Given the description of an element on the screen output the (x, y) to click on. 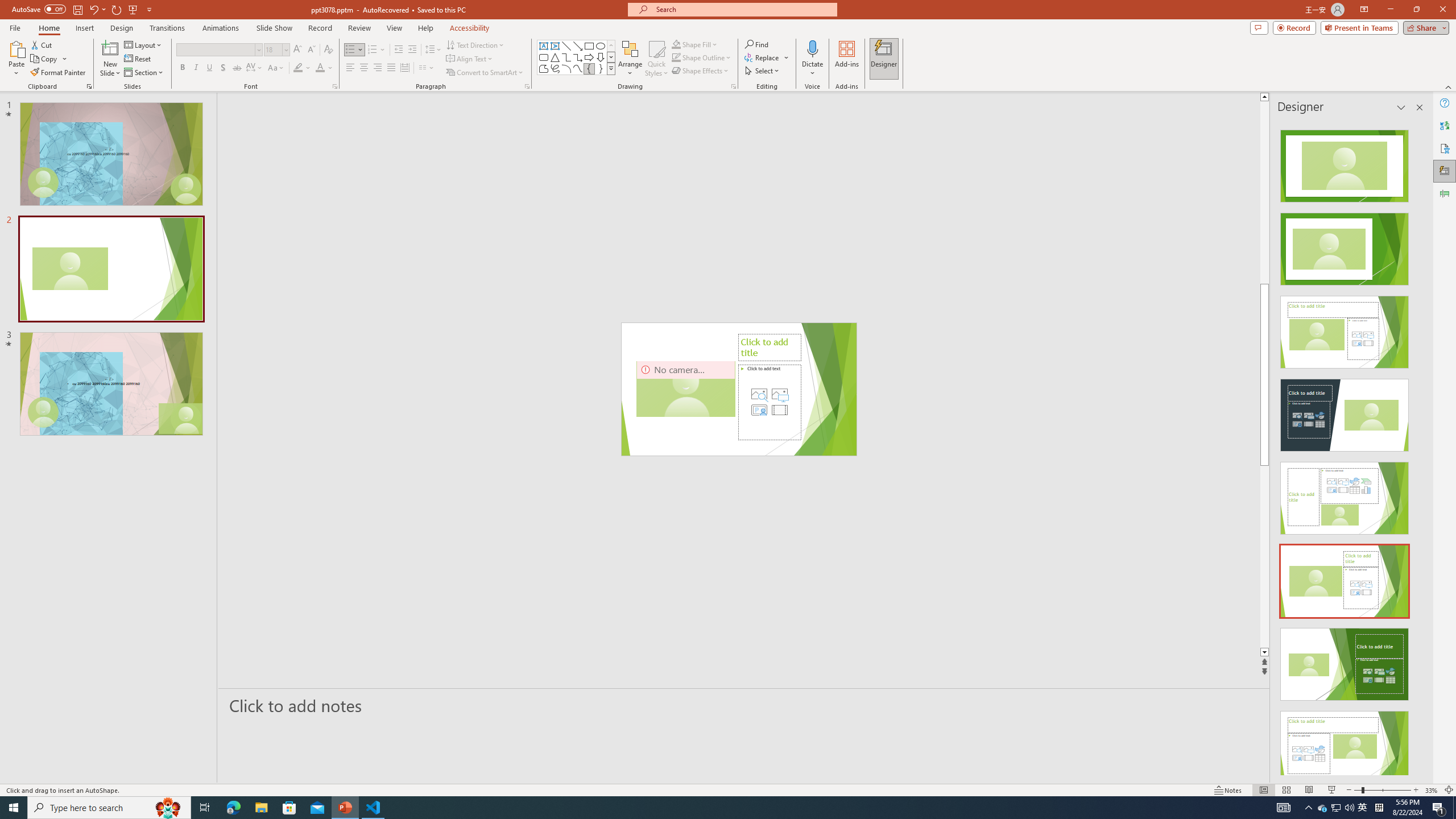
Zoom 33% (1431, 790)
Animation Pane (1444, 193)
